Given the description of an element on the screen output the (x, y) to click on. 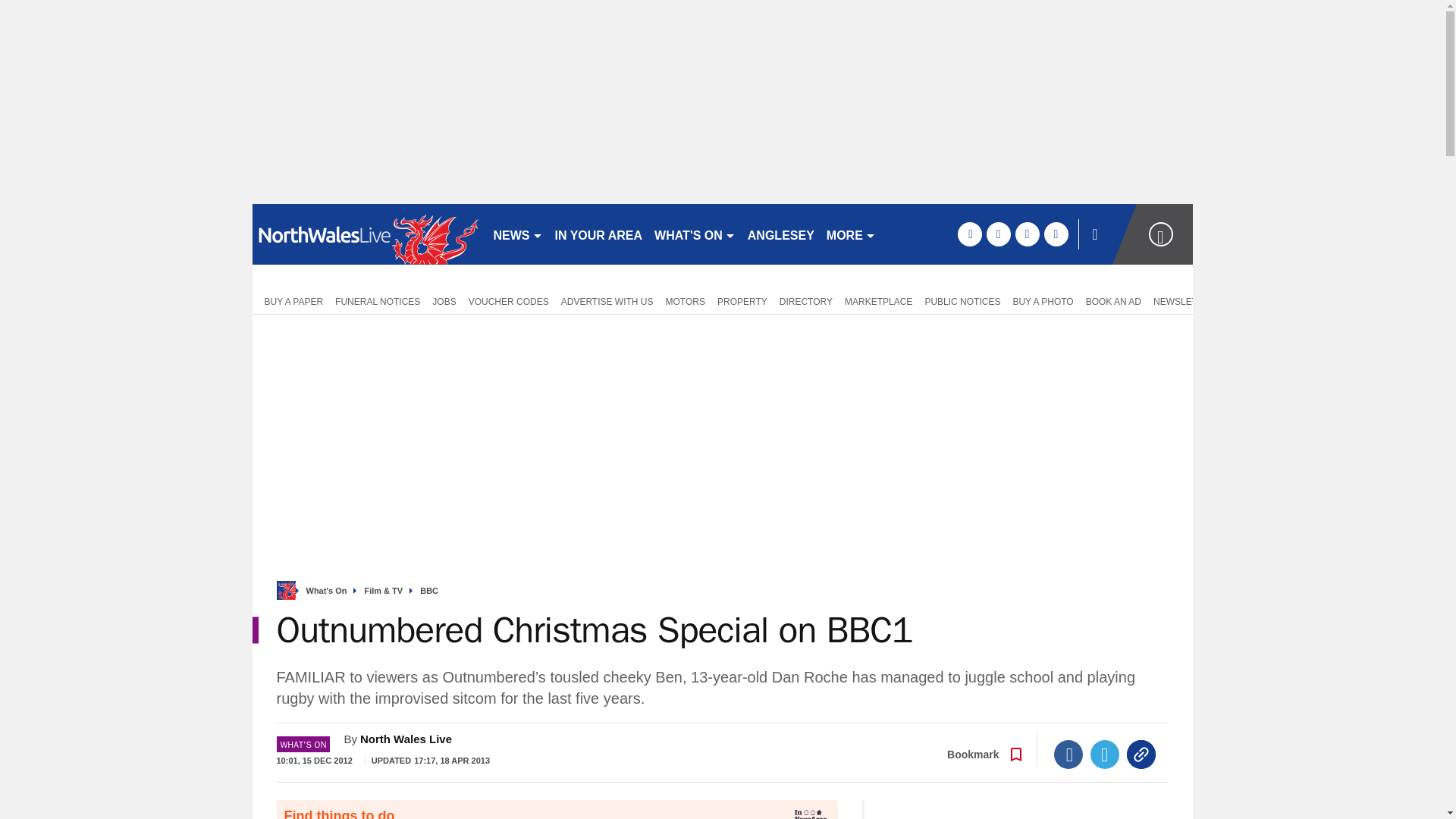
ANGLESEY (781, 233)
IN YOUR AREA (598, 233)
FUNERAL NOTICES (377, 300)
MOTORS (685, 300)
JOBS (443, 300)
NEWS (517, 233)
Facebook (1068, 754)
WHAT'S ON (694, 233)
pinterest (1026, 233)
PROPERTY (742, 300)
